Given the description of an element on the screen output the (x, y) to click on. 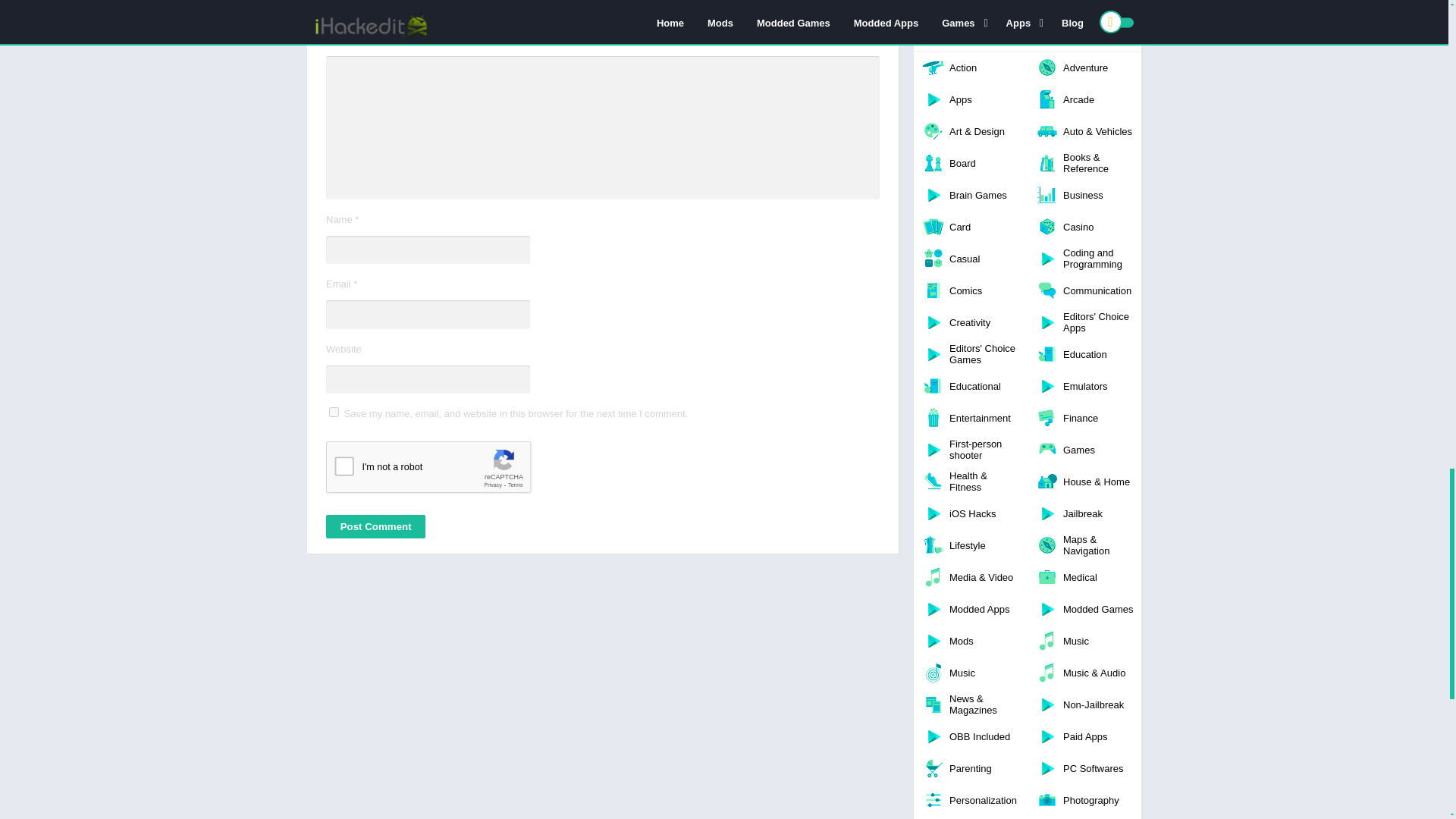
Post Comment (375, 526)
yes (334, 411)
reCAPTCHA (441, 470)
